Given the description of an element on the screen output the (x, y) to click on. 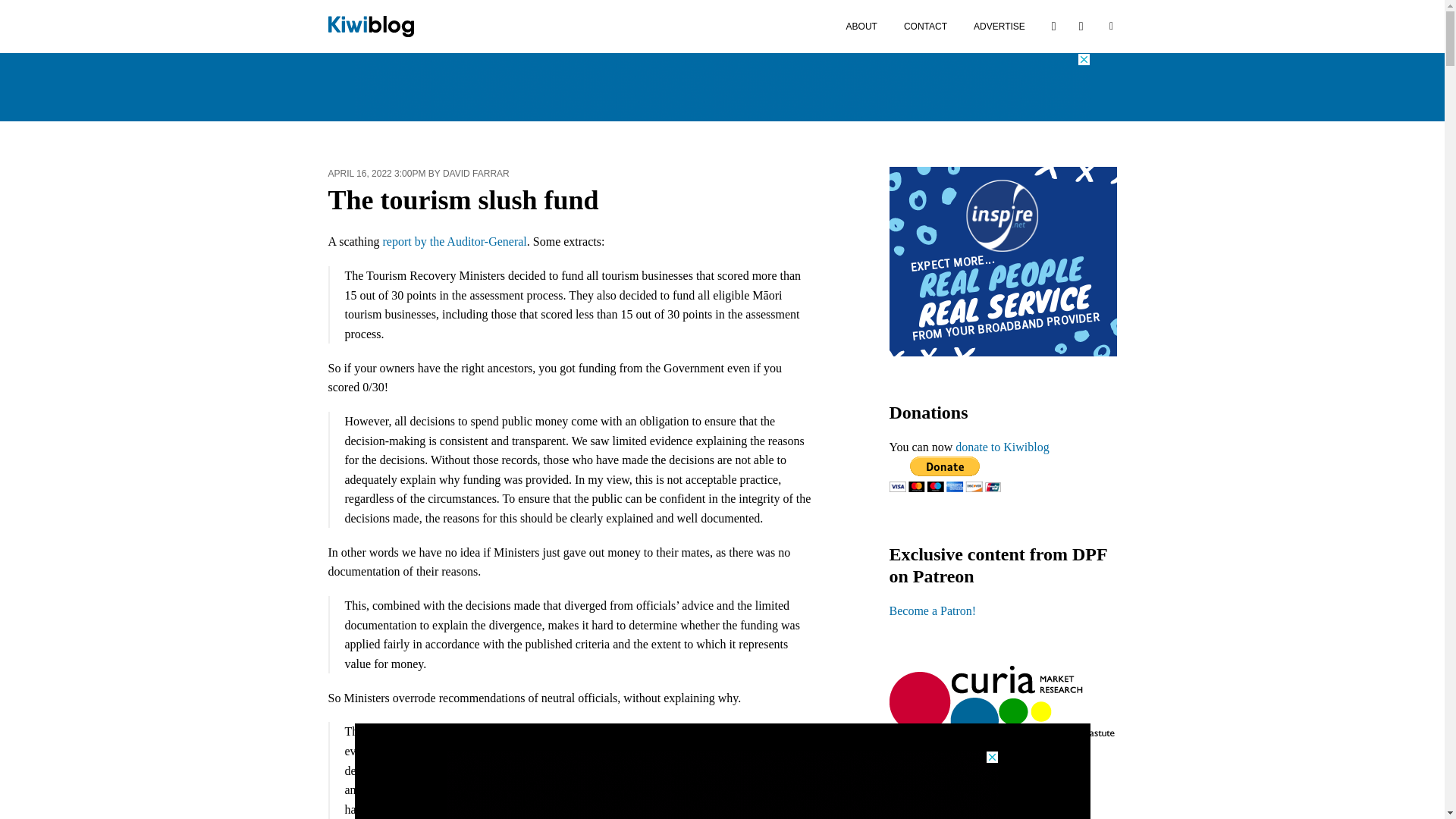
3rd party ad content (722, 87)
Toggle Search (1110, 26)
ADVERTISE (999, 26)
CONTACT (925, 26)
ABOUT (861, 26)
PayPal - The safer, easier way to pay online! (944, 474)
report by the Auditor-General (453, 241)
